Given the description of an element on the screen output the (x, y) to click on. 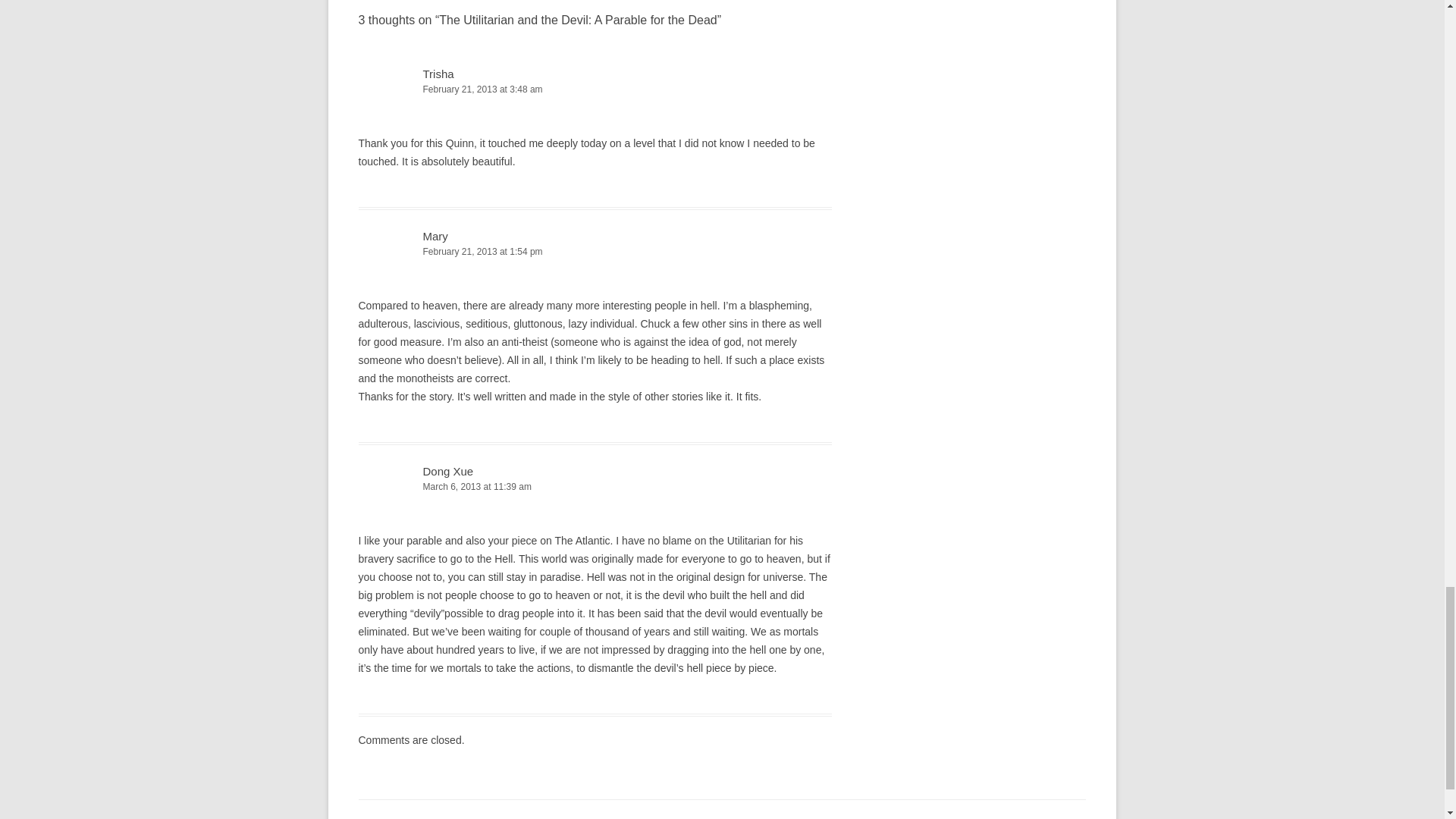
Dong Xue (448, 471)
March 6, 2013 at 11:39 am (594, 487)
February 21, 2013 at 3:48 am (594, 89)
February 21, 2013 at 1:54 pm (594, 252)
